Given the description of an element on the screen output the (x, y) to click on. 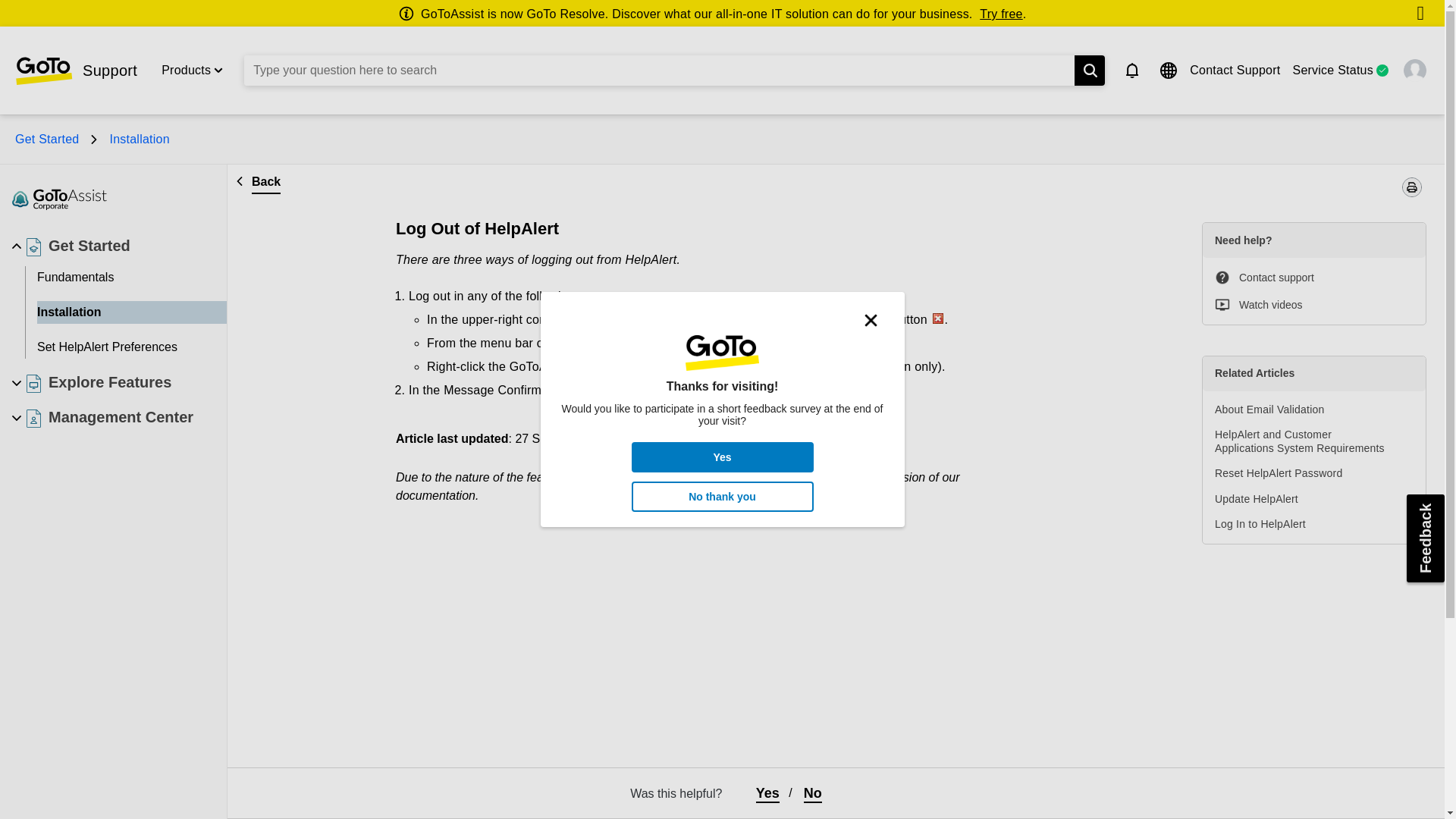
Support (75, 70)
Info icon. (408, 13)
Try free (1000, 13)
Service Status (1332, 70)
Support (75, 70)
Products (186, 70)
Products (186, 70)
Contact Support (1234, 70)
